Given the description of an element on the screen output the (x, y) to click on. 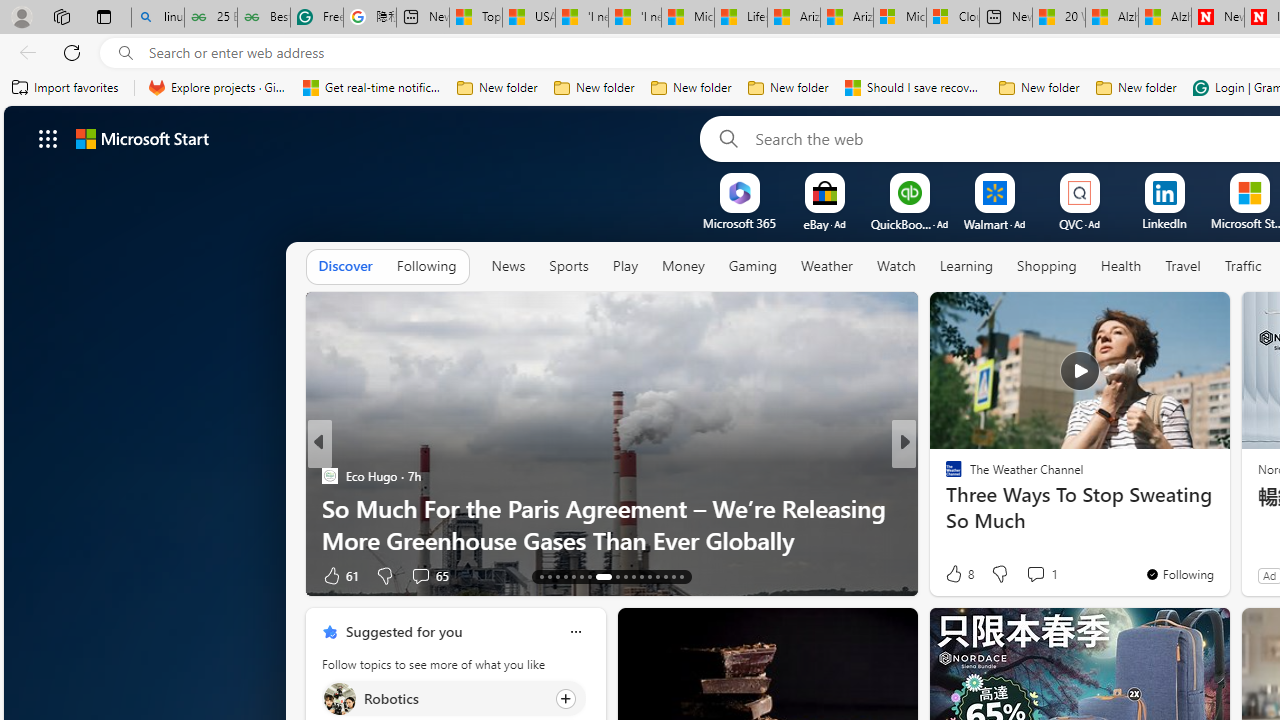
Cheapism (944, 507)
HuffPost (944, 475)
Robotics (338, 697)
AutomationID: tab-20 (603, 576)
Class: icon-img (575, 632)
222 Like (959, 574)
20 Ways to Boost Your Protein Intake at Every Meal (1059, 17)
68 Like (956, 574)
The Manual (944, 475)
